Given the description of an element on the screen output the (x, y) to click on. 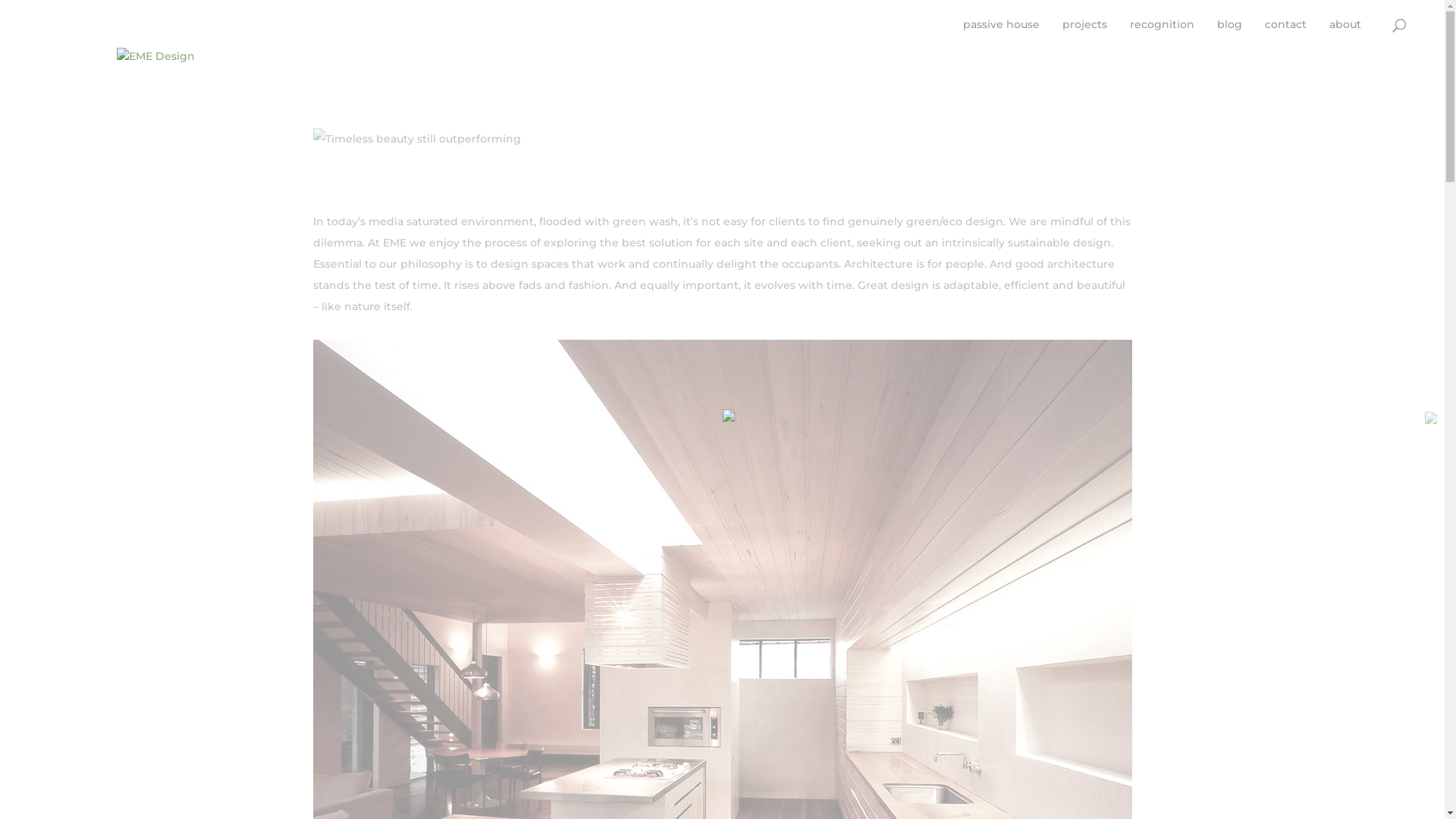
passive house Element type: text (1001, 31)
contact Element type: text (1285, 31)
about Element type: text (1345, 31)
blog Element type: text (1229, 31)
projects Element type: text (1084, 31)
recognition Element type: text (1161, 31)
